Given the description of an element on the screen output the (x, y) to click on. 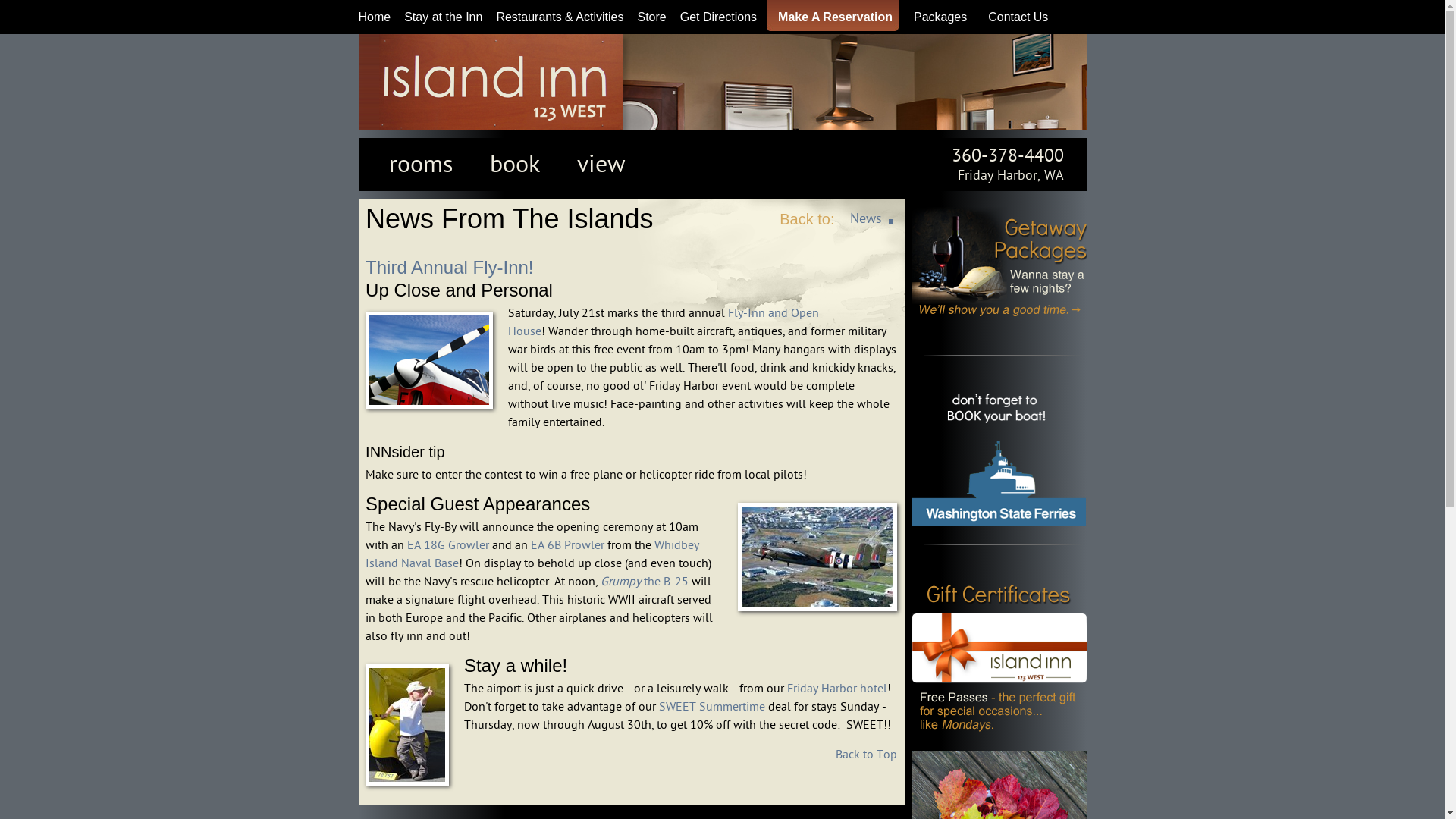
Stay at the Inn Element type: text (443, 16)
Packages Element type: text (936, 16)
Make A Reservation Element type: text (831, 16)
Island Inn Guest Registration Element type: text (439, 50)
view Element type: text (600, 164)
book Element type: text (514, 164)
Home Element type: text (373, 16)
EA 18G Growler Element type: text (448, 545)
360-378-4400 Element type: text (1006, 156)
Contact Us Element type: text (1014, 16)
Store Element type: text (651, 16)
Back to Top Element type: text (866, 754)
Friday Harbor hotel Element type: text (837, 688)
SWEET Summertime Element type: text (711, 706)
Get Directions Element type: text (718, 16)
Fly-Inn and Open House Element type: text (663, 322)
EA 6B Prowler Element type: text (567, 545)
Third Annual Fly-Inn! Element type: text (449, 267)
Grumpy the B-25 Element type: text (644, 581)
Restaurants & Activities Element type: text (559, 16)
Don't forget to book your boat! Element type: text (998, 452)
rooms Element type: text (419, 164)
News Element type: text (865, 218)
Whidbey Island Naval Base Element type: text (532, 554)
